Given the description of an element on the screen output the (x, y) to click on. 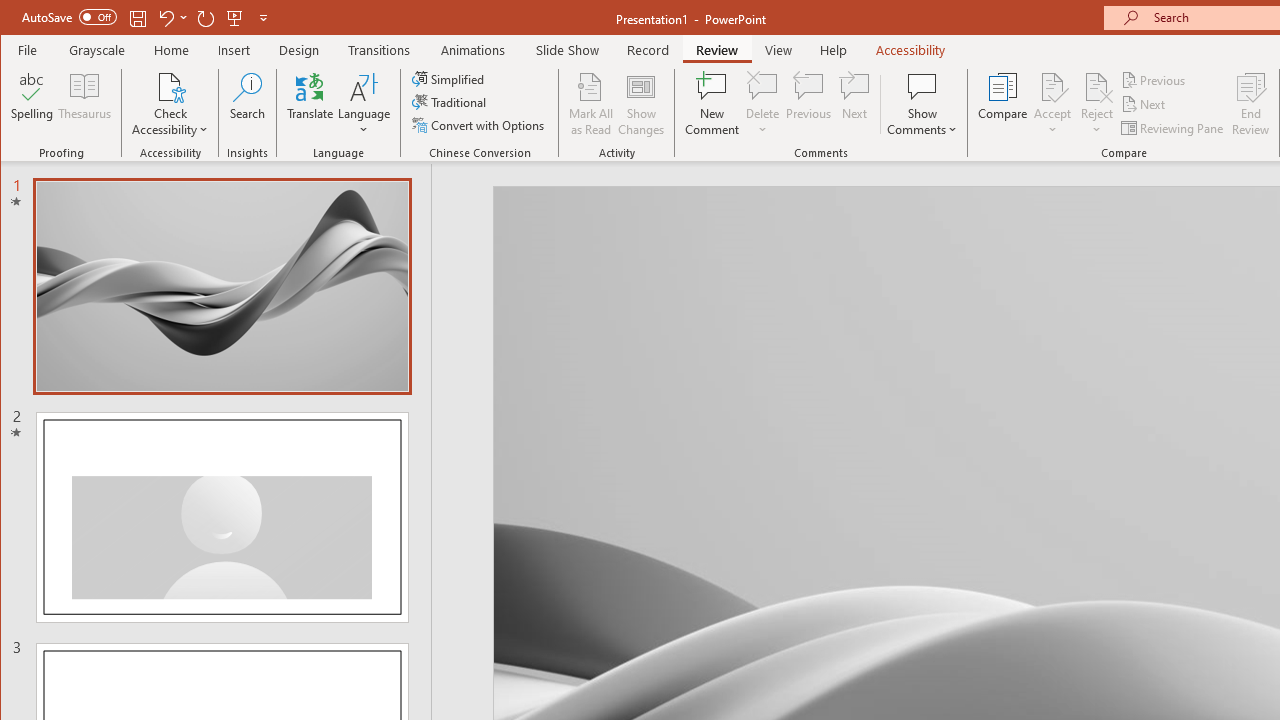
Reject (1096, 104)
Simplified (450, 78)
Accept (1052, 104)
Reviewing Pane (1173, 127)
Compare (1002, 104)
